Given the description of an element on the screen output the (x, y) to click on. 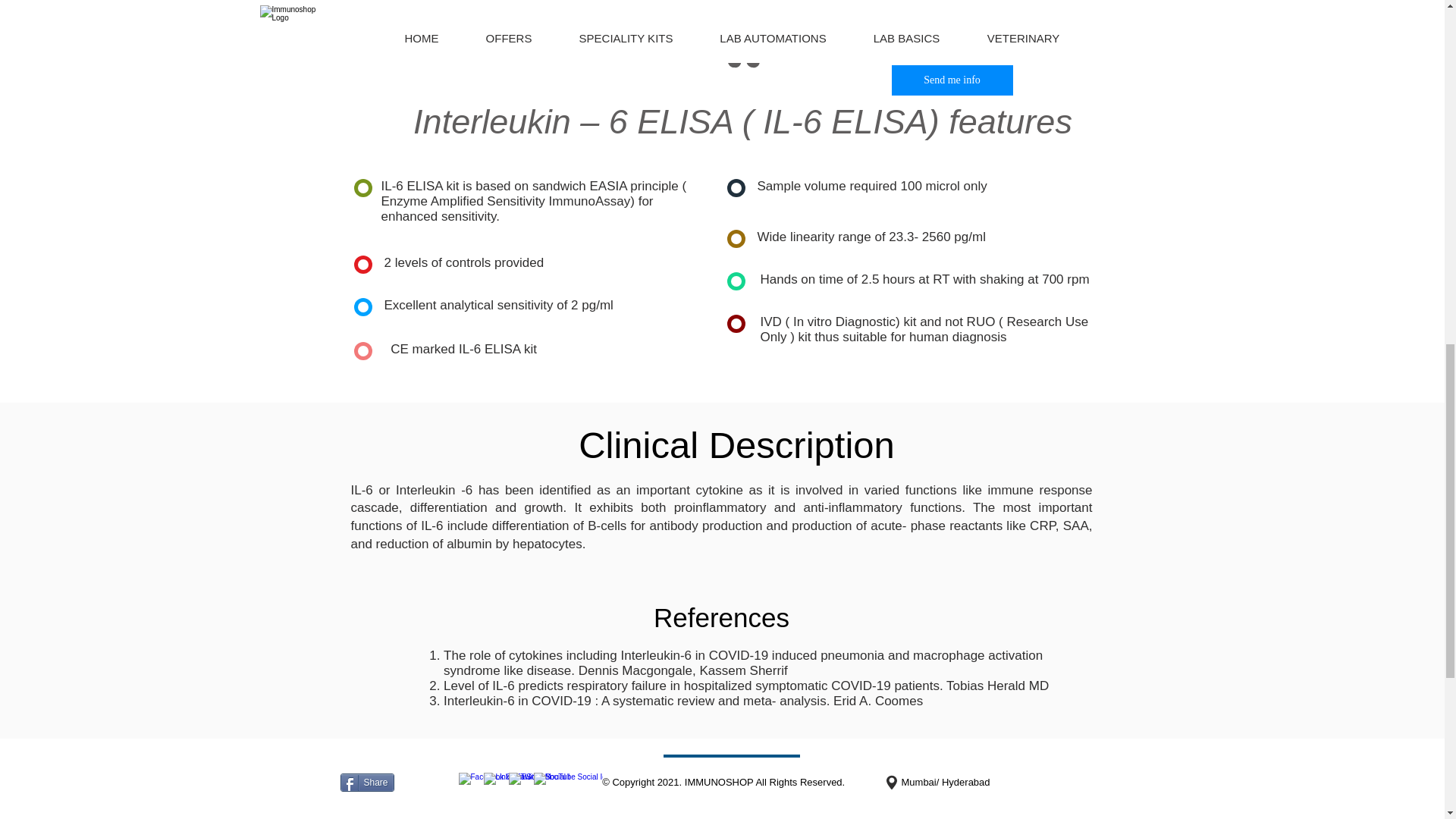
Send me info (952, 80)
